Given the description of an element on the screen output the (x, y) to click on. 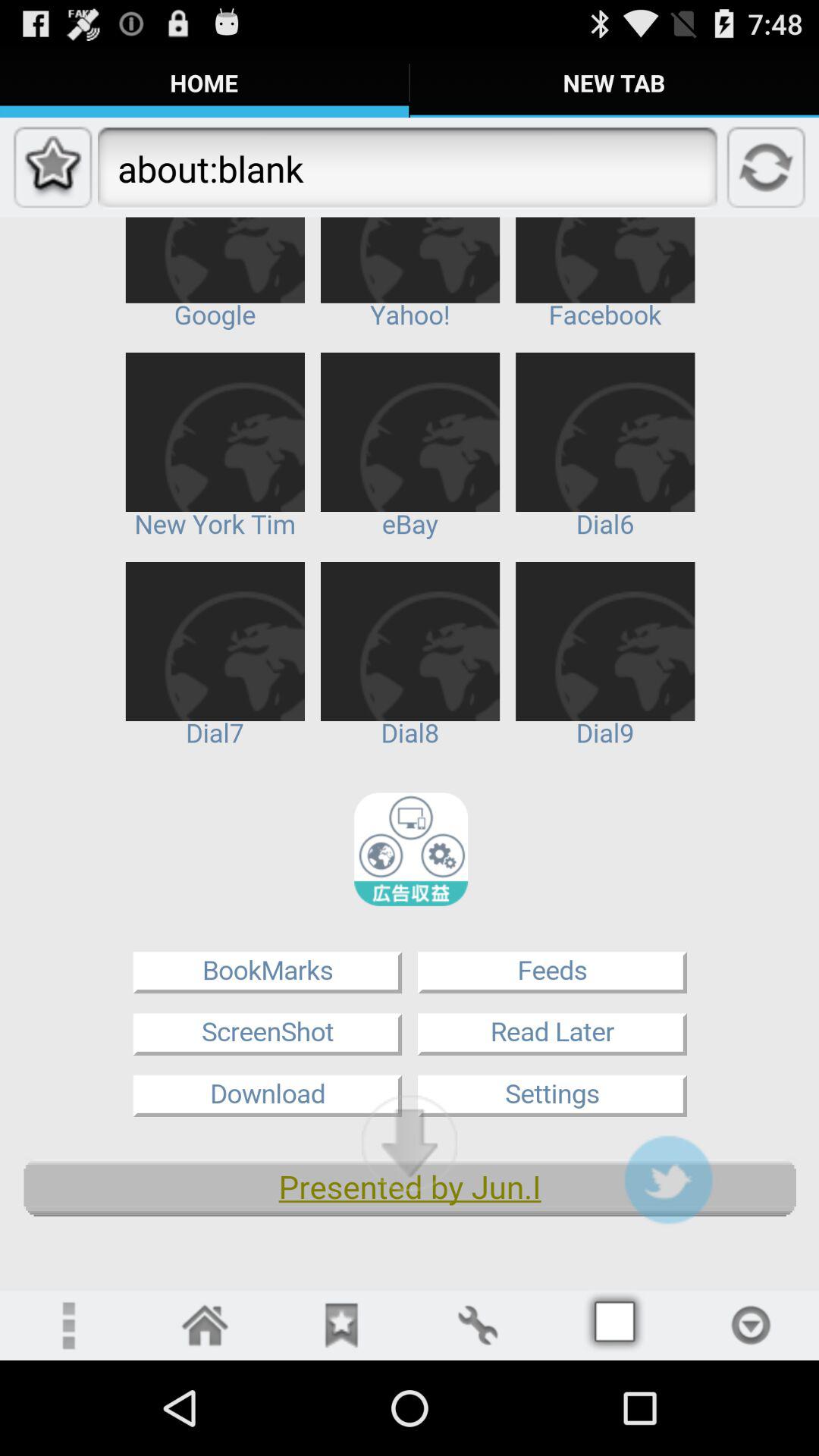
review button (341, 1325)
